Given the description of an element on the screen output the (x, y) to click on. 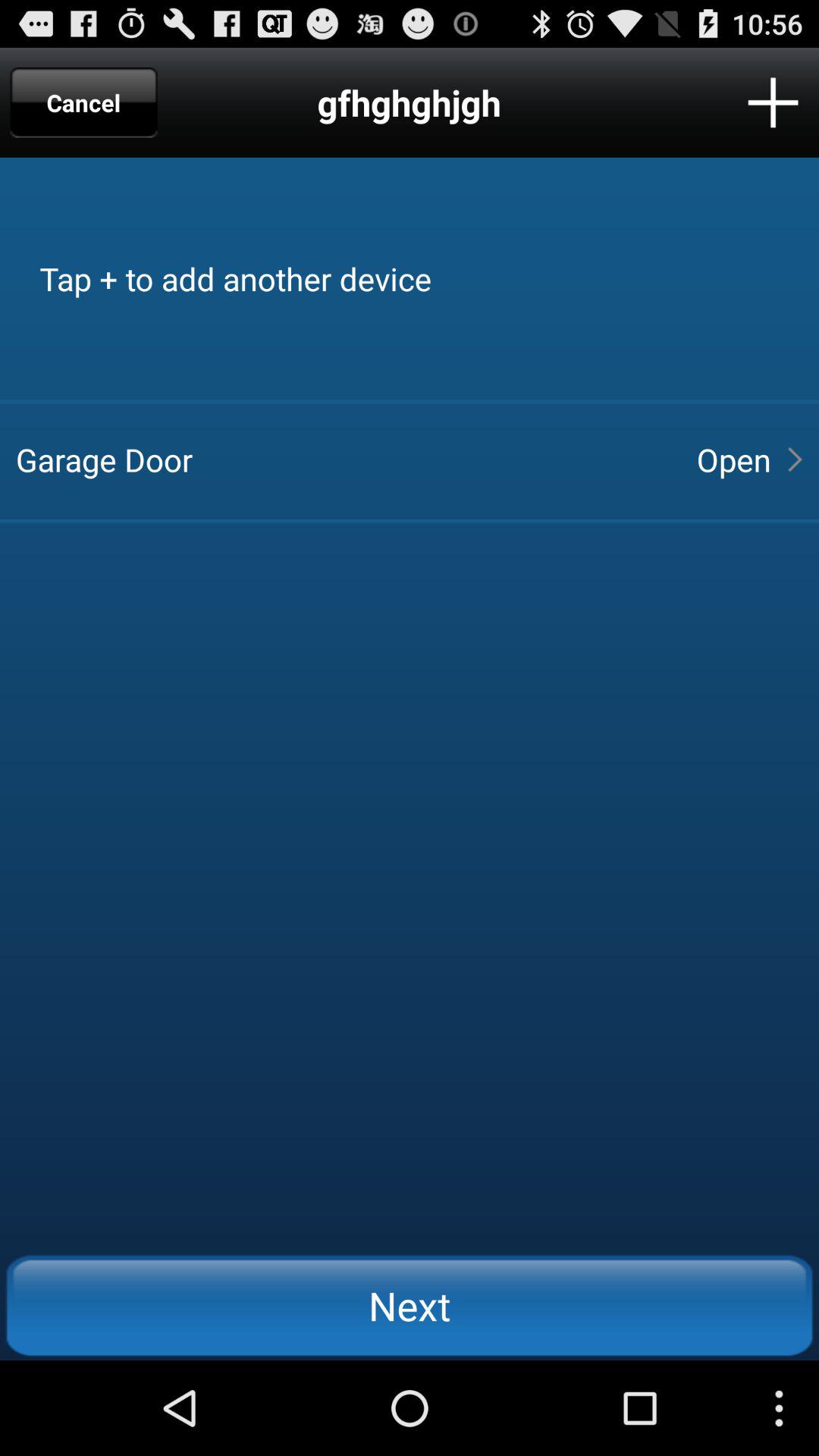
press item above the next button (342, 459)
